Given the description of an element on the screen output the (x, y) to click on. 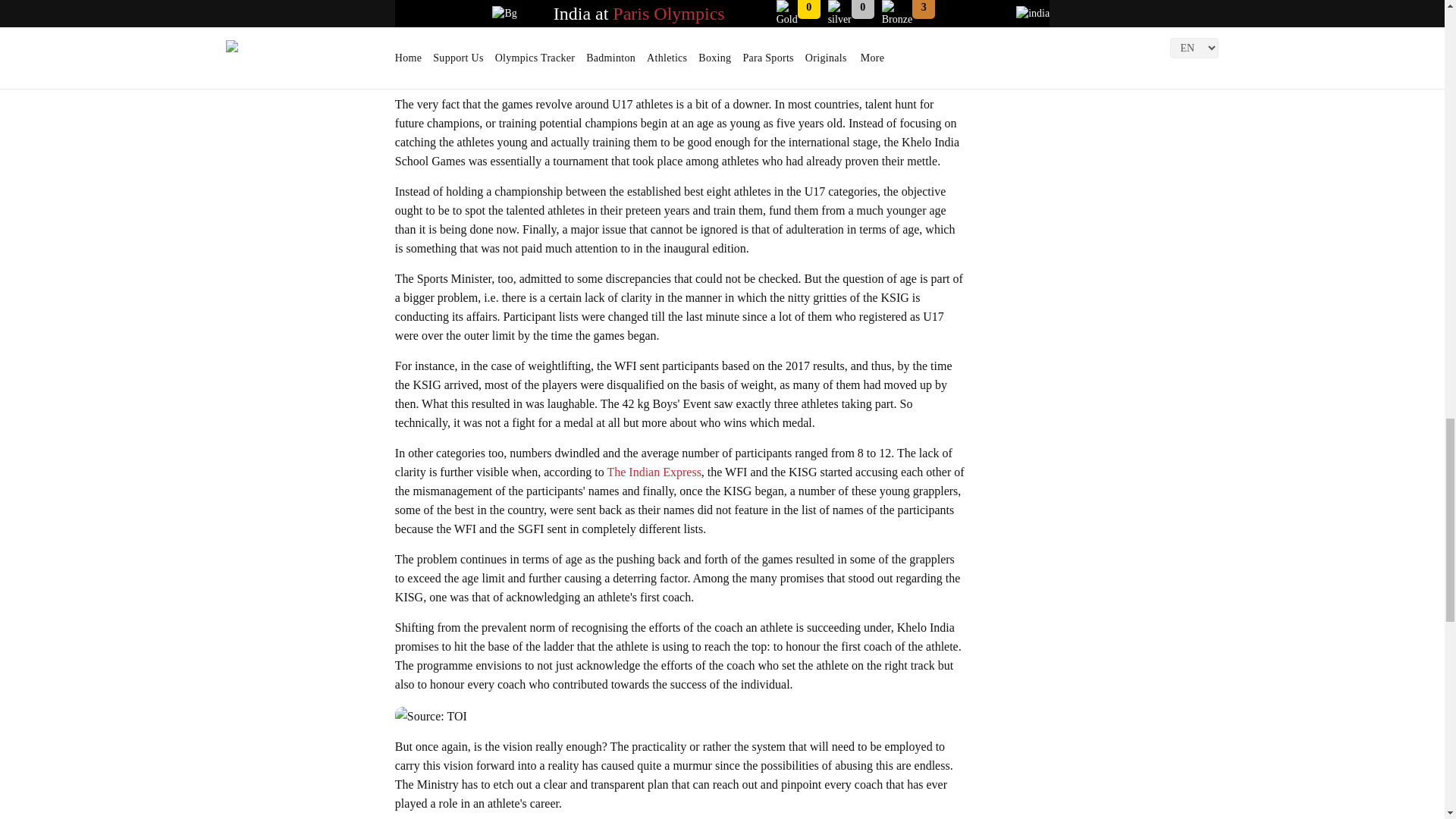
Source: HT (467, 73)
Source: TOI (430, 715)
